Given the description of an element on the screen output the (x, y) to click on. 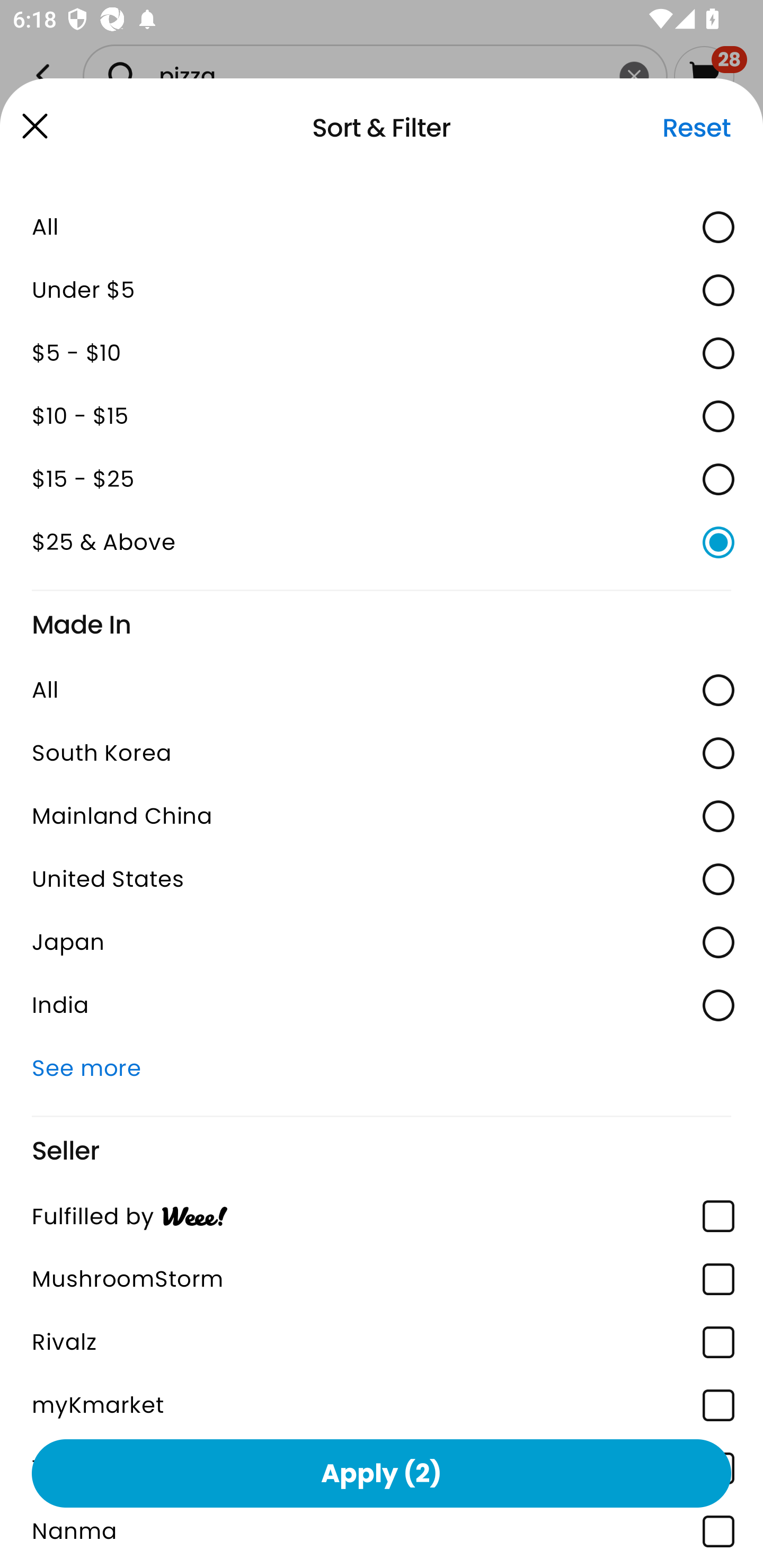
Reset (696, 127)
See more (381, 1067)
Apply (2) (381, 1472)
